Given the description of an element on the screen output the (x, y) to click on. 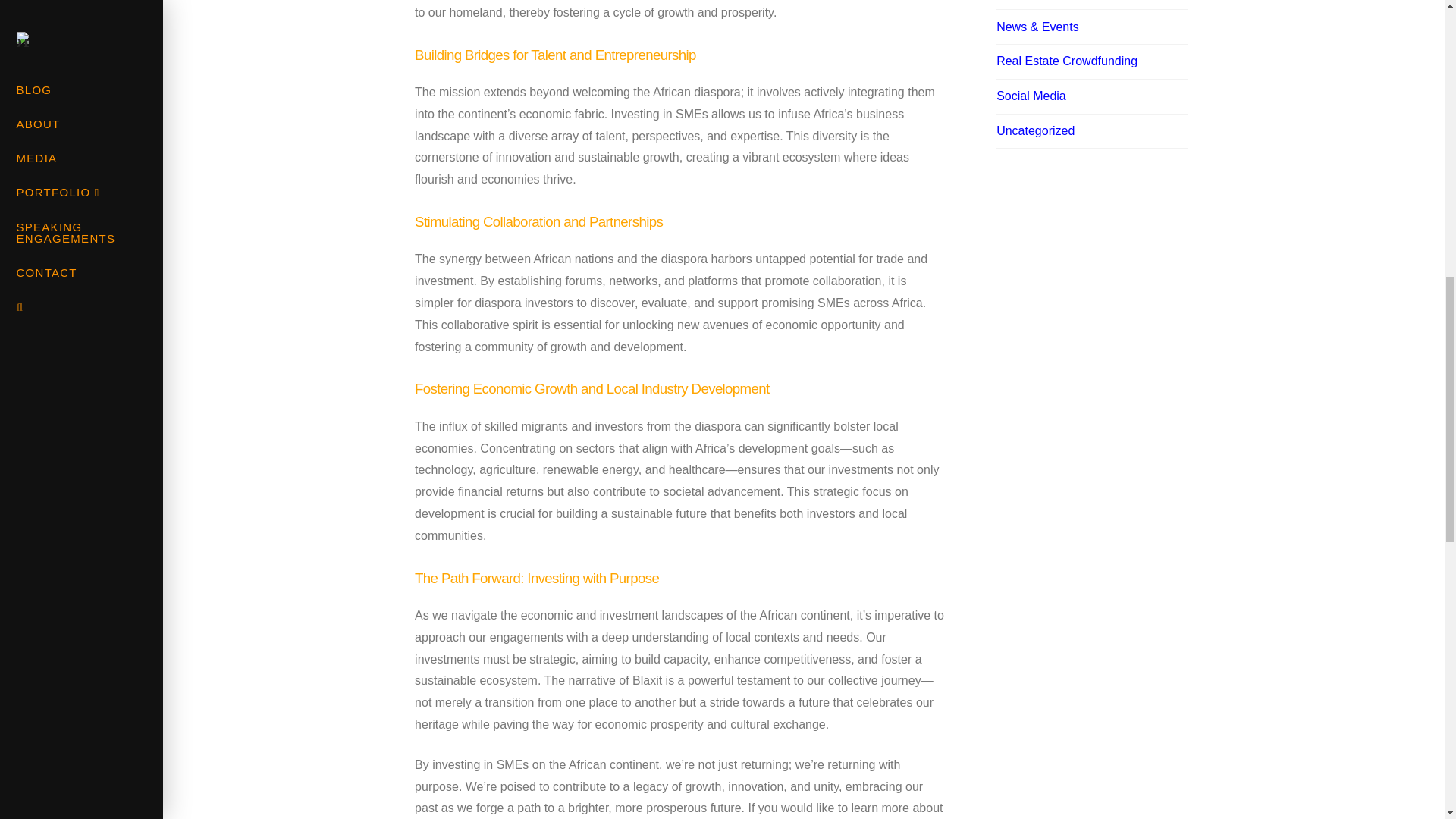
Social Media (1030, 95)
Uncategorized (1034, 131)
Investment Clubs (1042, 0)
Real Estate Crowdfunding (1066, 61)
